Given the description of an element on the screen output the (x, y) to click on. 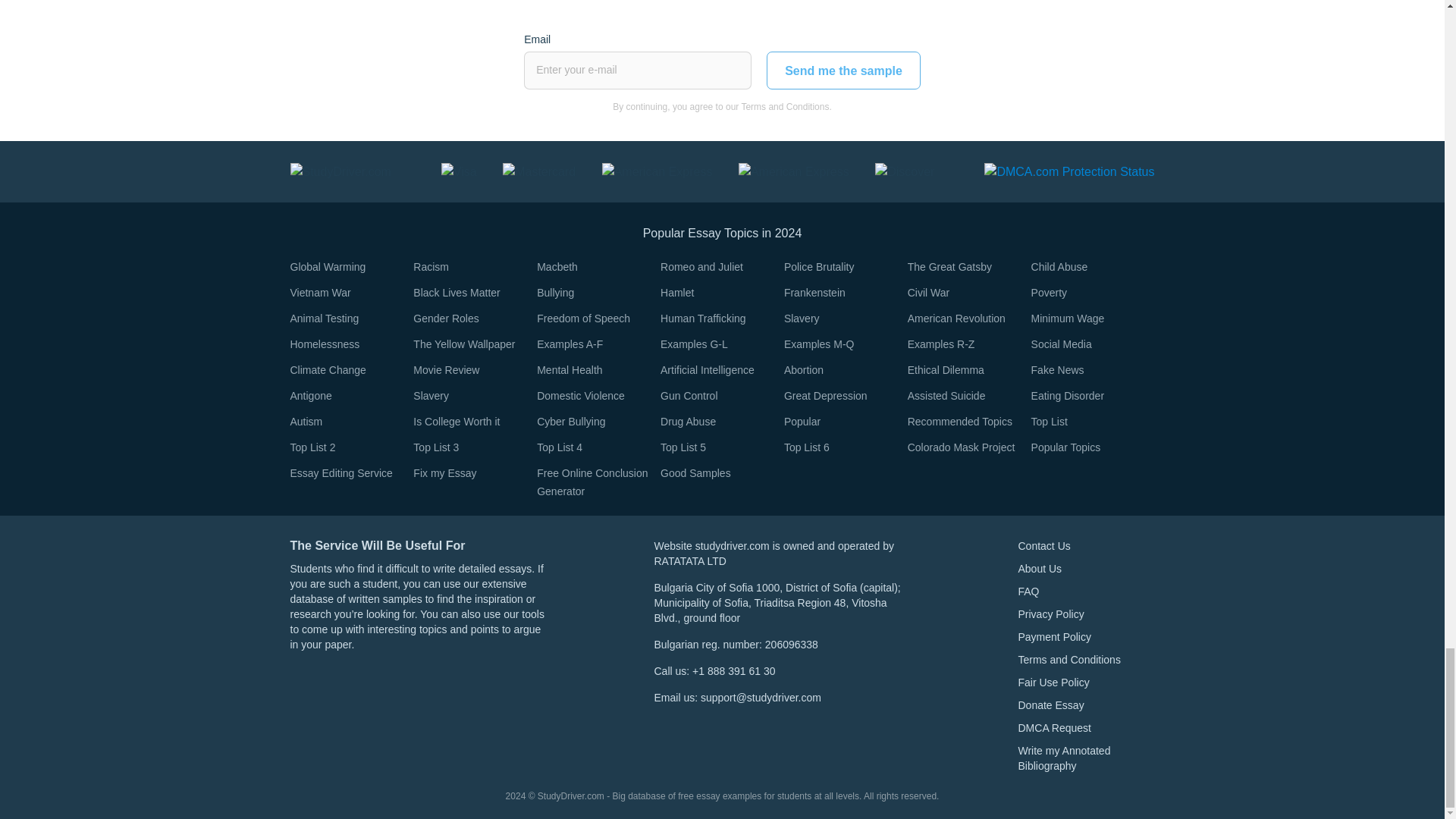
DMCA.com Protection Status (1069, 170)
